Given the description of an element on the screen output the (x, y) to click on. 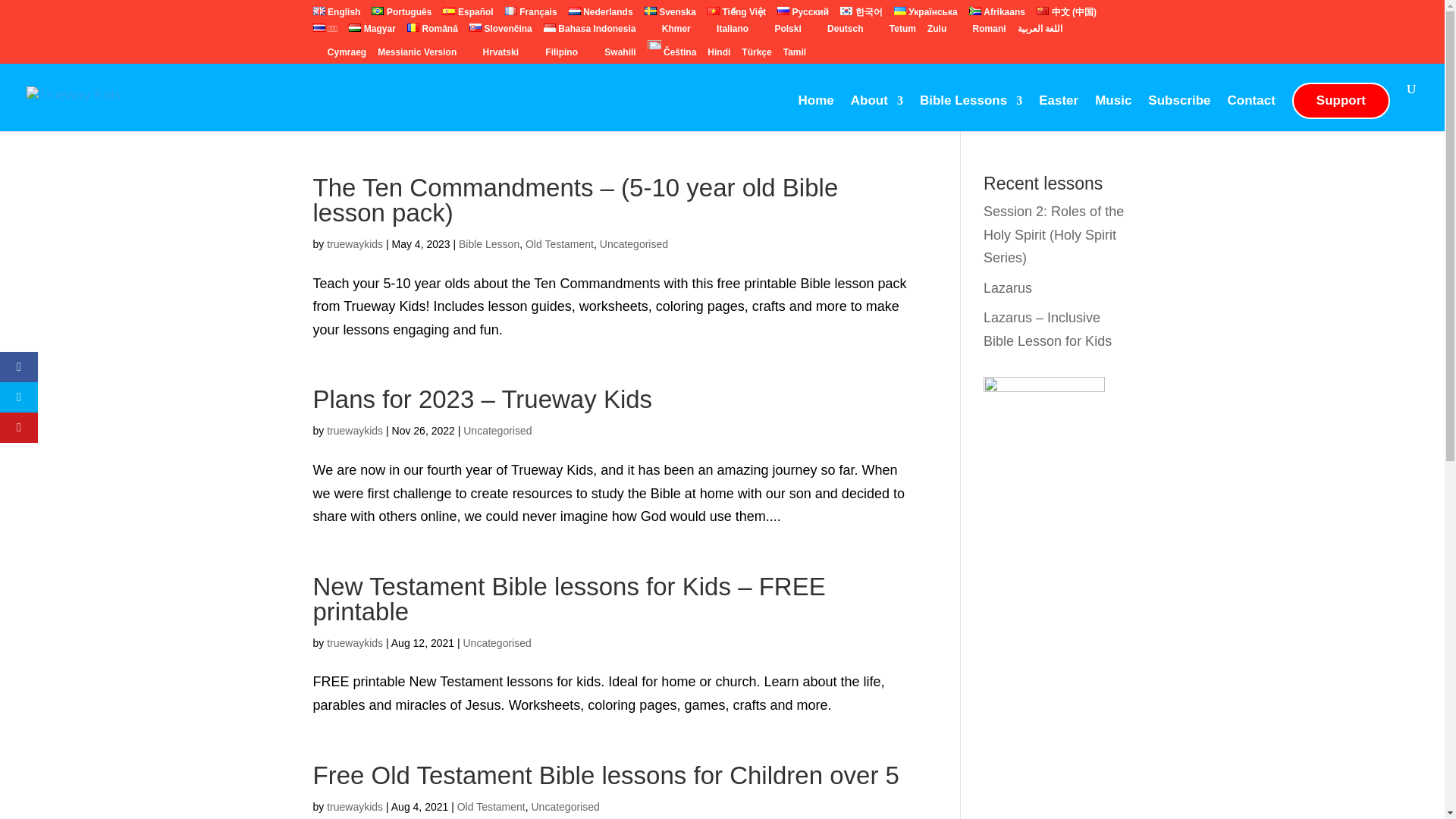
Afrikaans (997, 14)
Magyar (372, 31)
Posts by truewaykids (354, 643)
Khmer (668, 32)
Messianic Version (417, 55)
Posts by truewaykids (354, 806)
Tetum (895, 32)
Deutsch (837, 32)
Home (815, 113)
Bible Lessons (971, 113)
Nederlands (601, 14)
Posts by truewaykids (354, 244)
Hrvatski (492, 55)
Svenska (670, 14)
English (336, 14)
